Given the description of an element on the screen output the (x, y) to click on. 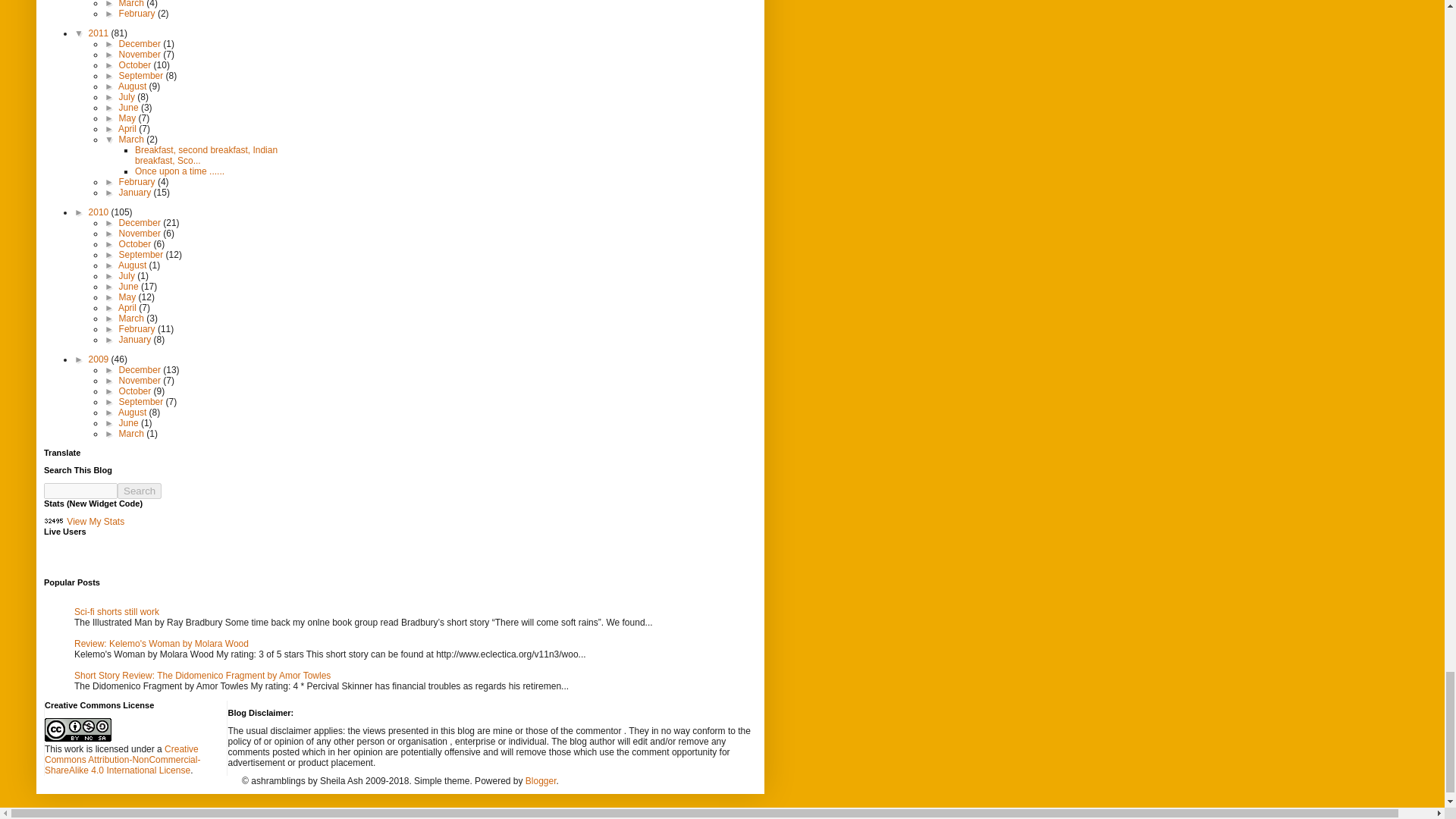
Search (139, 490)
search (80, 490)
Search (139, 490)
search (139, 490)
